Given the description of an element on the screen output the (x, y) to click on. 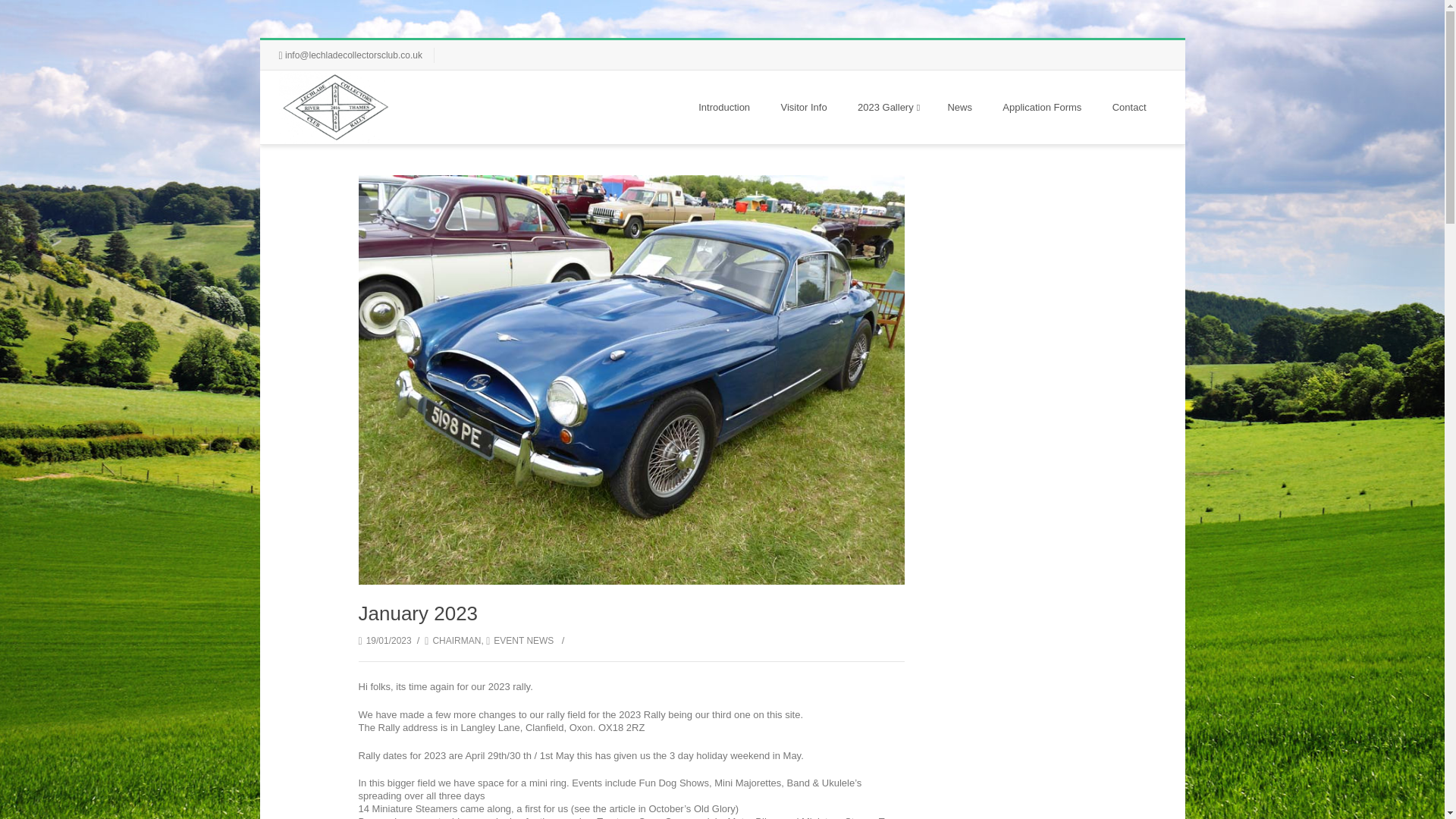
View all posts in Chairman (452, 640)
2023 Gallery (887, 107)
View all posts in Event News (519, 640)
EVENT NEWS (519, 640)
Introduction (723, 107)
CHAIRMAN (452, 640)
Application Forms (1041, 107)
Lechlade Collectors Club (336, 107)
